Given the description of an element on the screen output the (x, y) to click on. 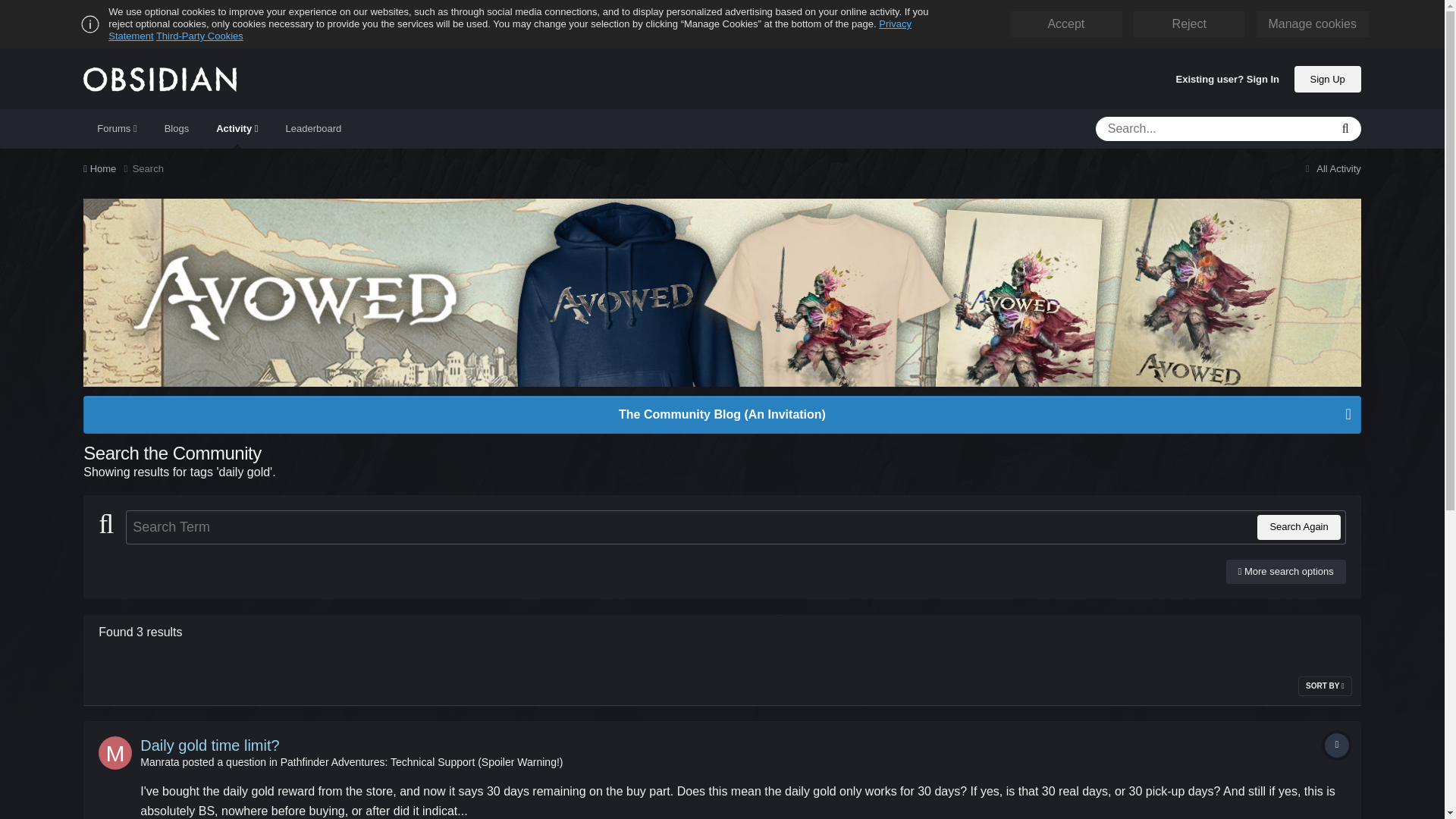
Go to Manrata's profile (159, 761)
All Activity (1331, 168)
Activity (236, 128)
Sign Up (1326, 78)
Forums (115, 128)
Search (147, 168)
Go to Manrata's profile (115, 752)
Home (107, 168)
Privacy Statement (509, 29)
Reject (1189, 23)
Topic (1336, 745)
Blogs (177, 128)
Third-Party Cookies (199, 35)
Accept (1065, 23)
Manage cookies (1312, 23)
